Given the description of an element on the screen output the (x, y) to click on. 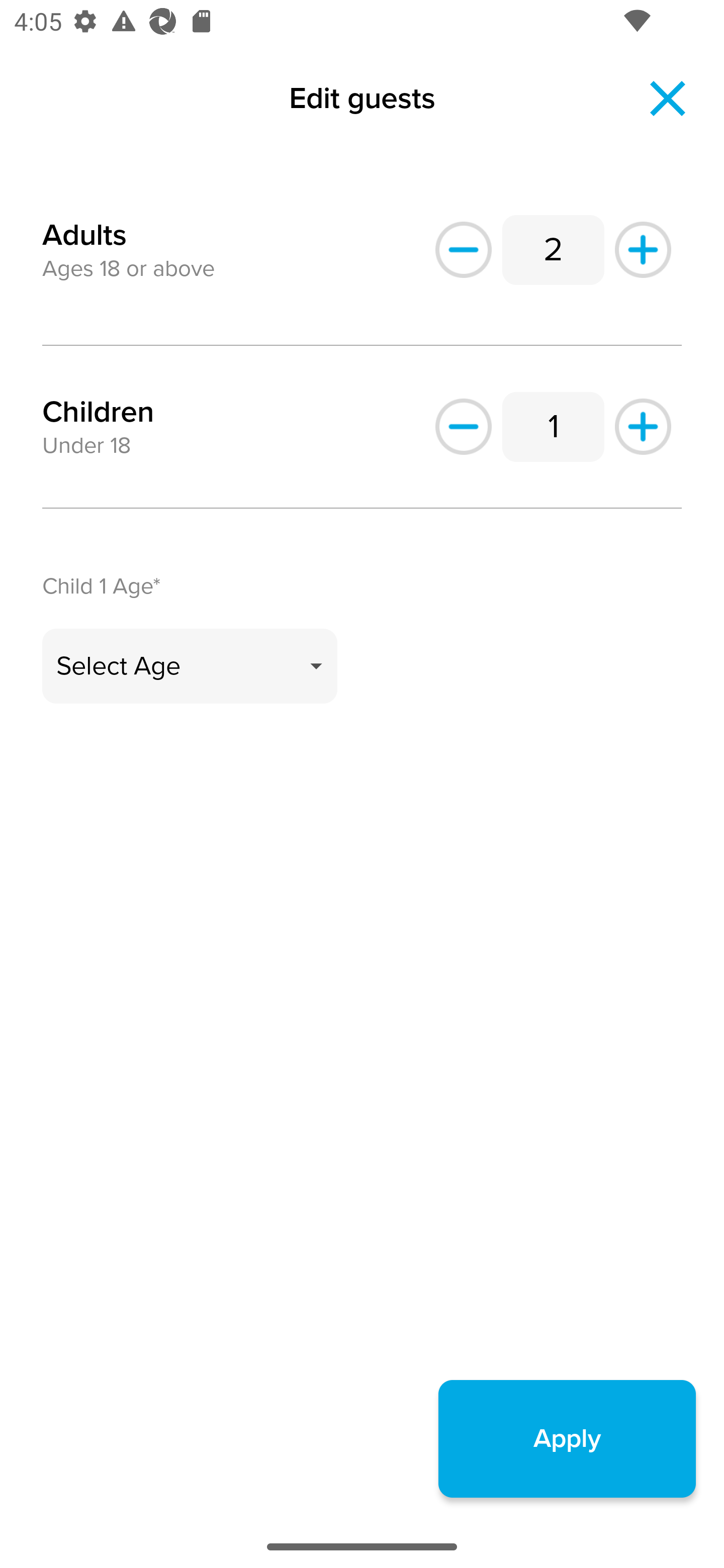
Adults (83, 223)
Children (97, 412)
Select Age (189, 666)
Apply (566, 1438)
